Given the description of an element on the screen output the (x, y) to click on. 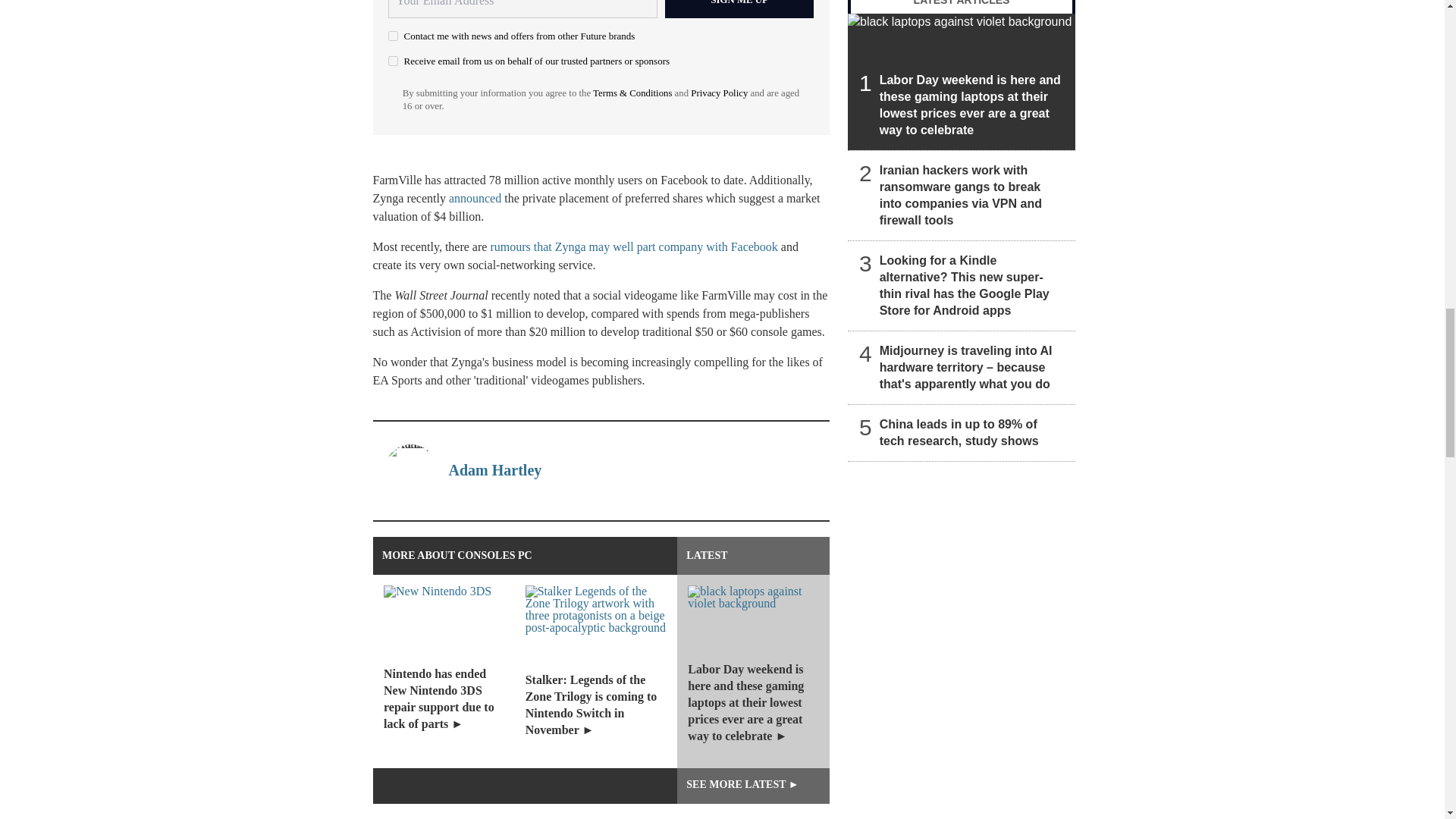
on (392, 35)
on (392, 61)
Sign me up (739, 9)
